Given the description of an element on the screen output the (x, y) to click on. 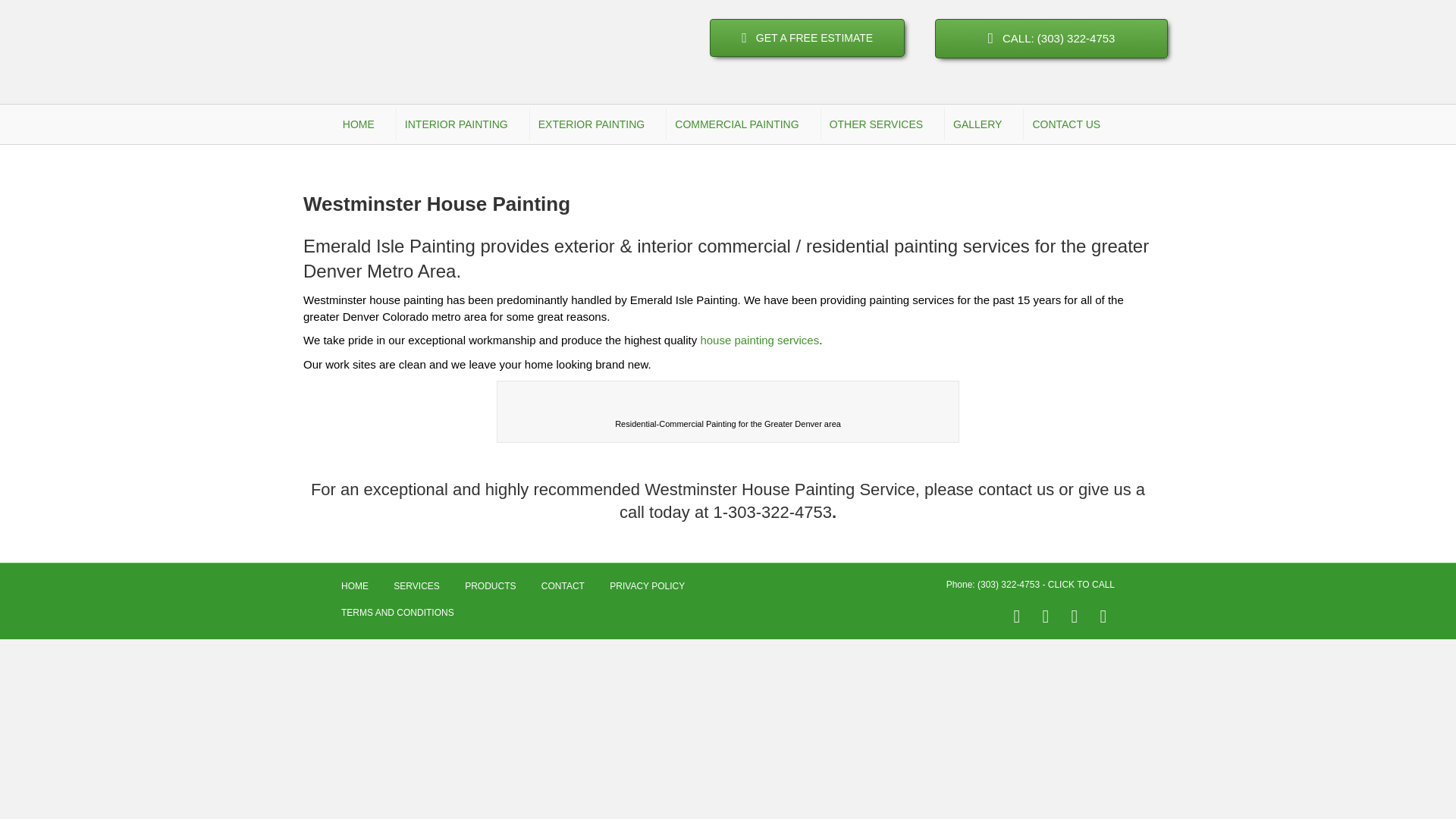
SERVICES (728, 396)
contact us (1016, 488)
PRODUCTS (489, 591)
Instagram (1074, 616)
Email (1103, 616)
house painting services (759, 339)
SERVICES (415, 591)
HOME (355, 591)
SERVICES (759, 339)
CONTACT (562, 591)
Google-maps (1045, 616)
OTHER SERVICES (882, 124)
CLICK TO CALL (1081, 584)
EXTERIOR PAINTING (597, 124)
GALLERY (983, 124)
